Given the description of an element on the screen output the (x, y) to click on. 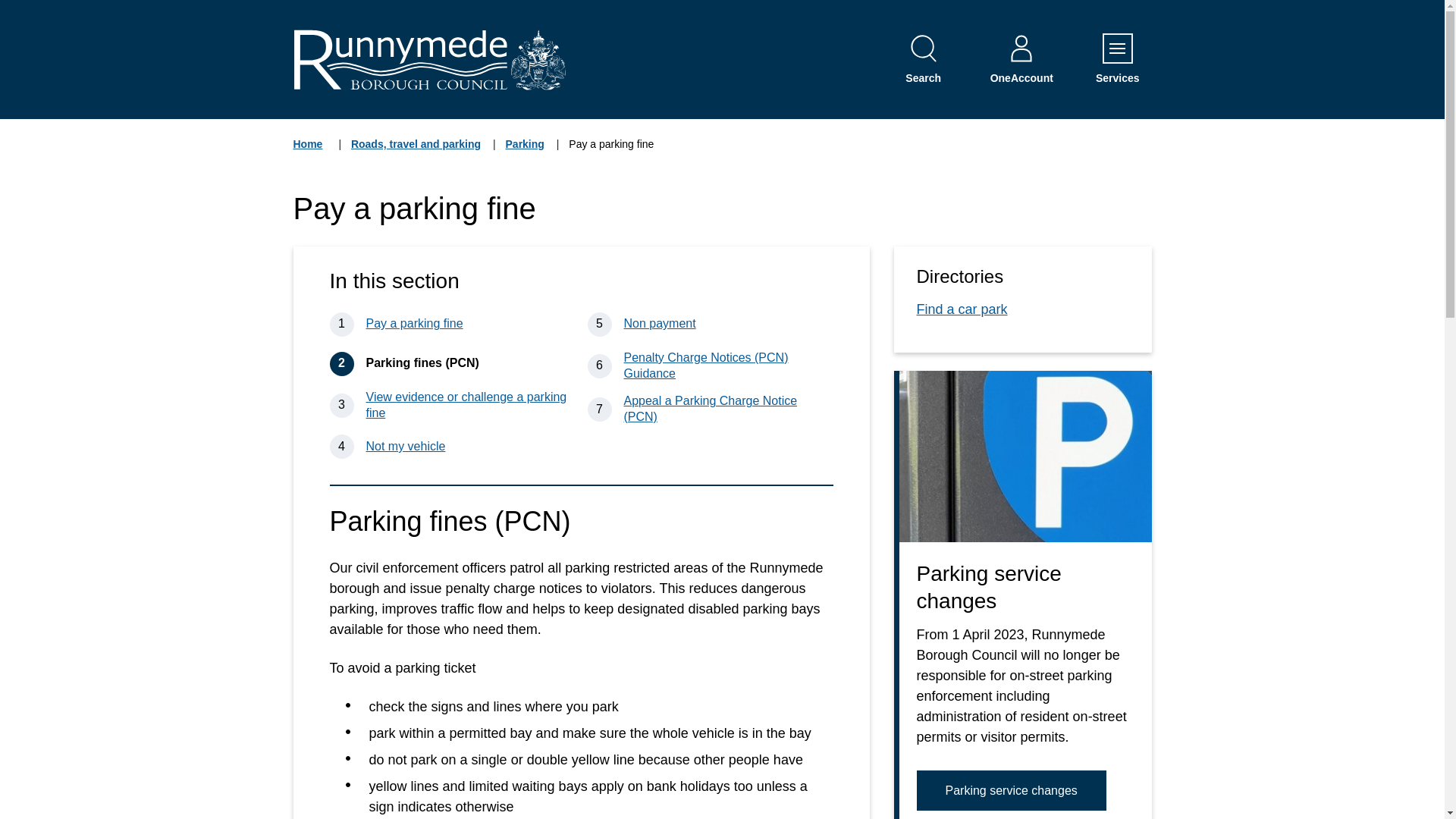
Logo: Visit the Runnymede Borough Council home page (429, 59)
View evidence or challenge a parking fine (524, 153)
Find a car park (462, 405)
Home (961, 317)
Parking service changes (415, 153)
Not my vehicle (309, 153)
Runnymede Borough Council Home Page (1010, 790)
Skip to content (462, 446)
Pay a parking fine (429, 59)
Non payment (738, 16)
